Given the description of an element on the screen output the (x, y) to click on. 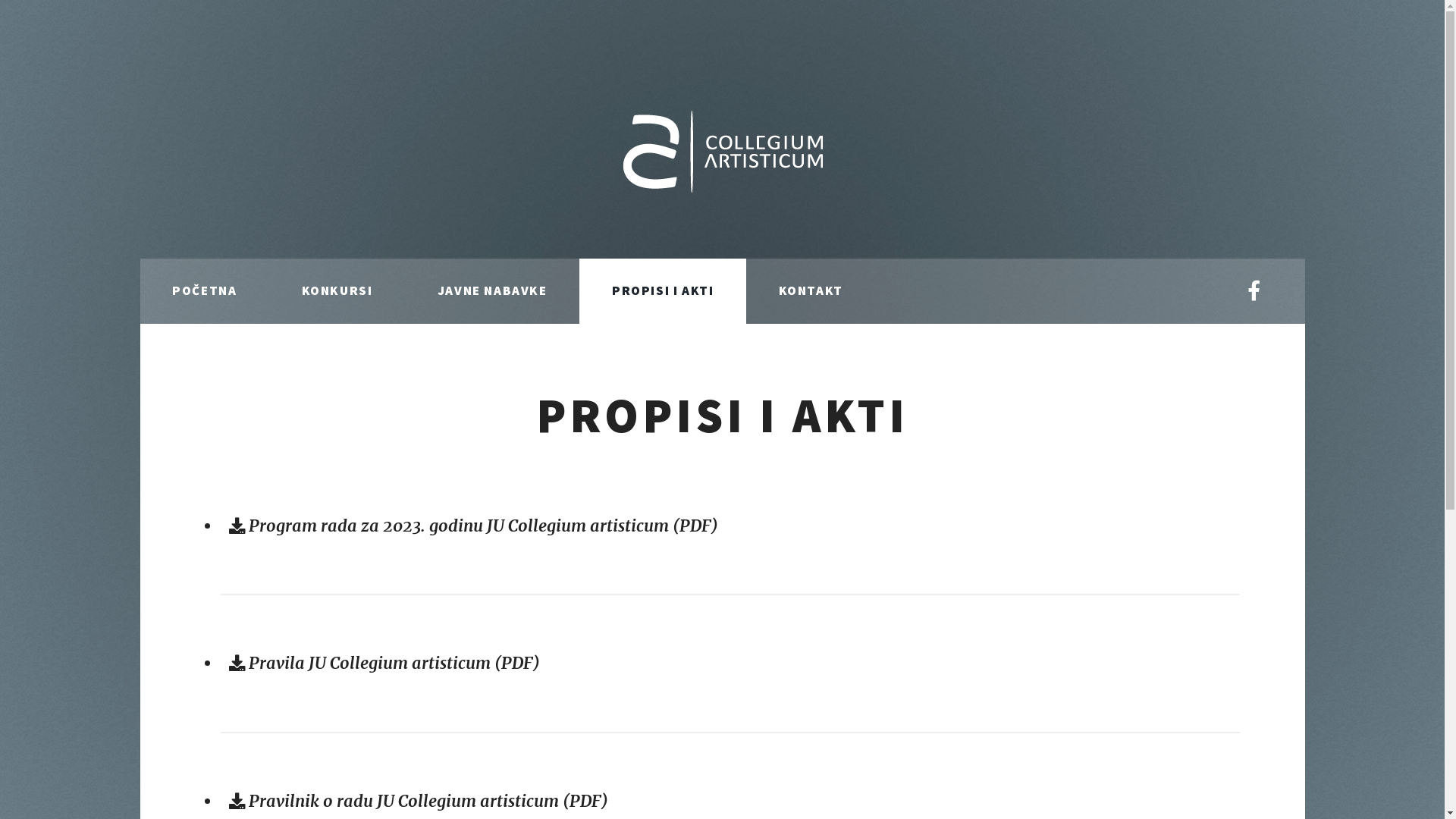
JAVNE NABAVKE Element type: text (491, 290)
PROPISI I AKTI Element type: text (662, 290)
Program rada za 2023. godinu JU Collegium artisticum (PDF) Element type: text (473, 525)
Pravilnik o radu JU Collegium artisticum (PDF) Element type: text (418, 800)
KONKURSI Element type: text (336, 290)
KONTAKT Element type: text (810, 290)
Pravila JU Collegium artisticum (PDF) Element type: text (384, 662)
